Given the description of an element on the screen output the (x, y) to click on. 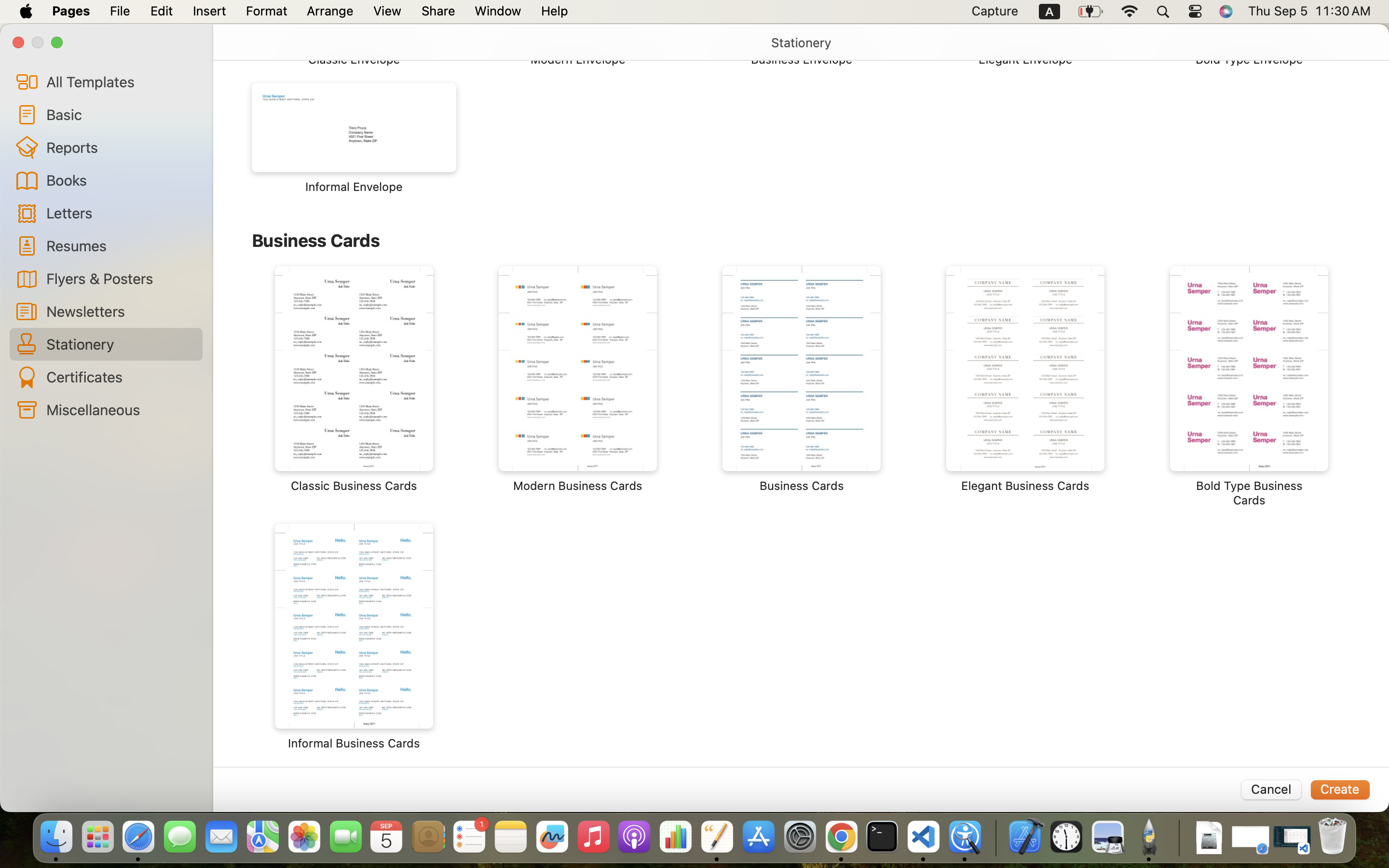
Miscellaneous Element type: AXStaticText (120, 409)
‎⁨Informal Business Cards⁩ Element type: AXButton (353, 636)
Newsletters Element type: AXStaticText (120, 310)
Certificates Element type: AXStaticText (120, 376)
‎⁨Business Cards⁩ Element type: AXButton (801, 379)
